Given the description of an element on the screen output the (x, y) to click on. 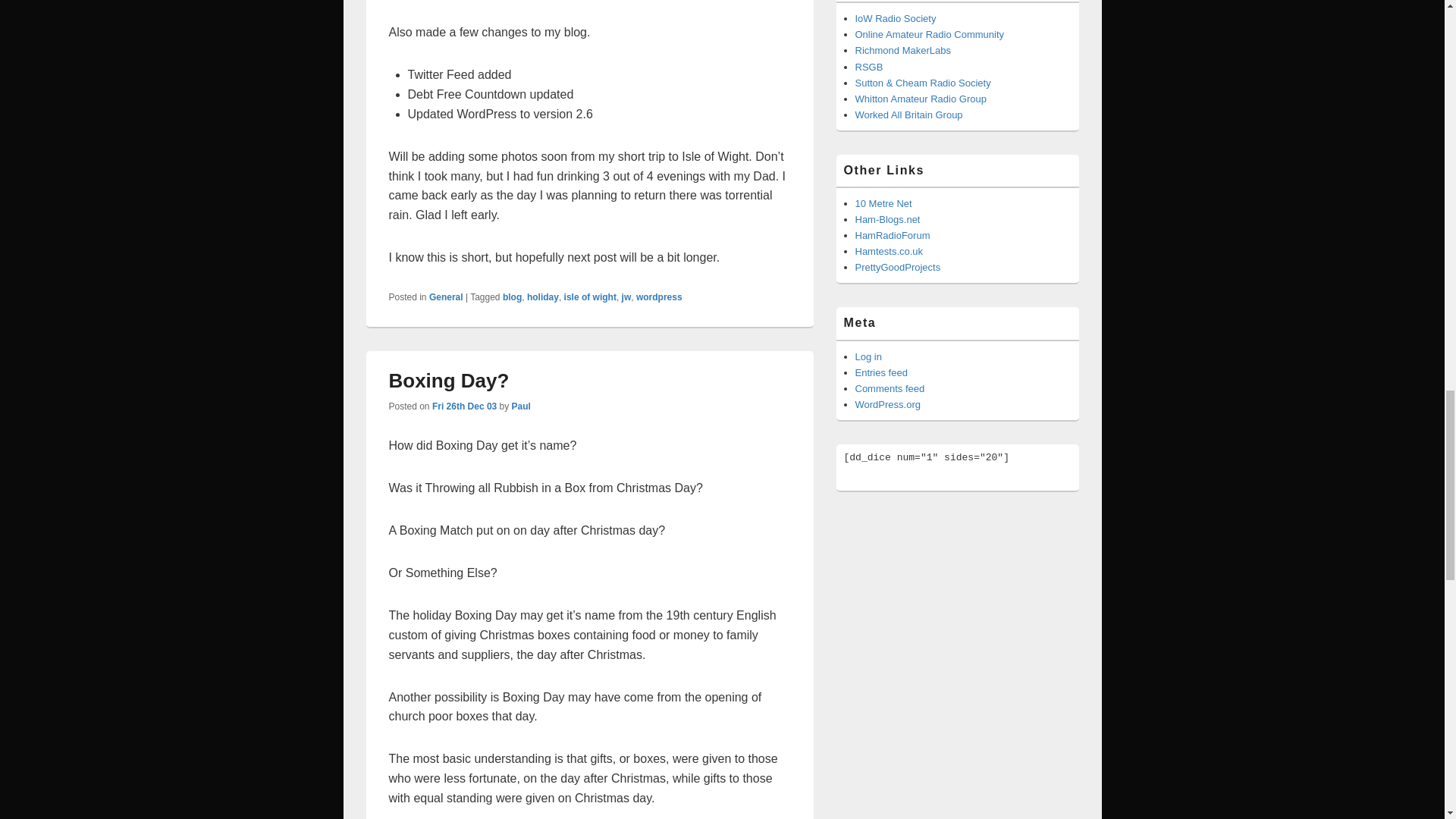
View all posts by Paul (521, 406)
Permalink to Boxing Day? (448, 380)
